Given the description of an element on the screen output the (x, y) to click on. 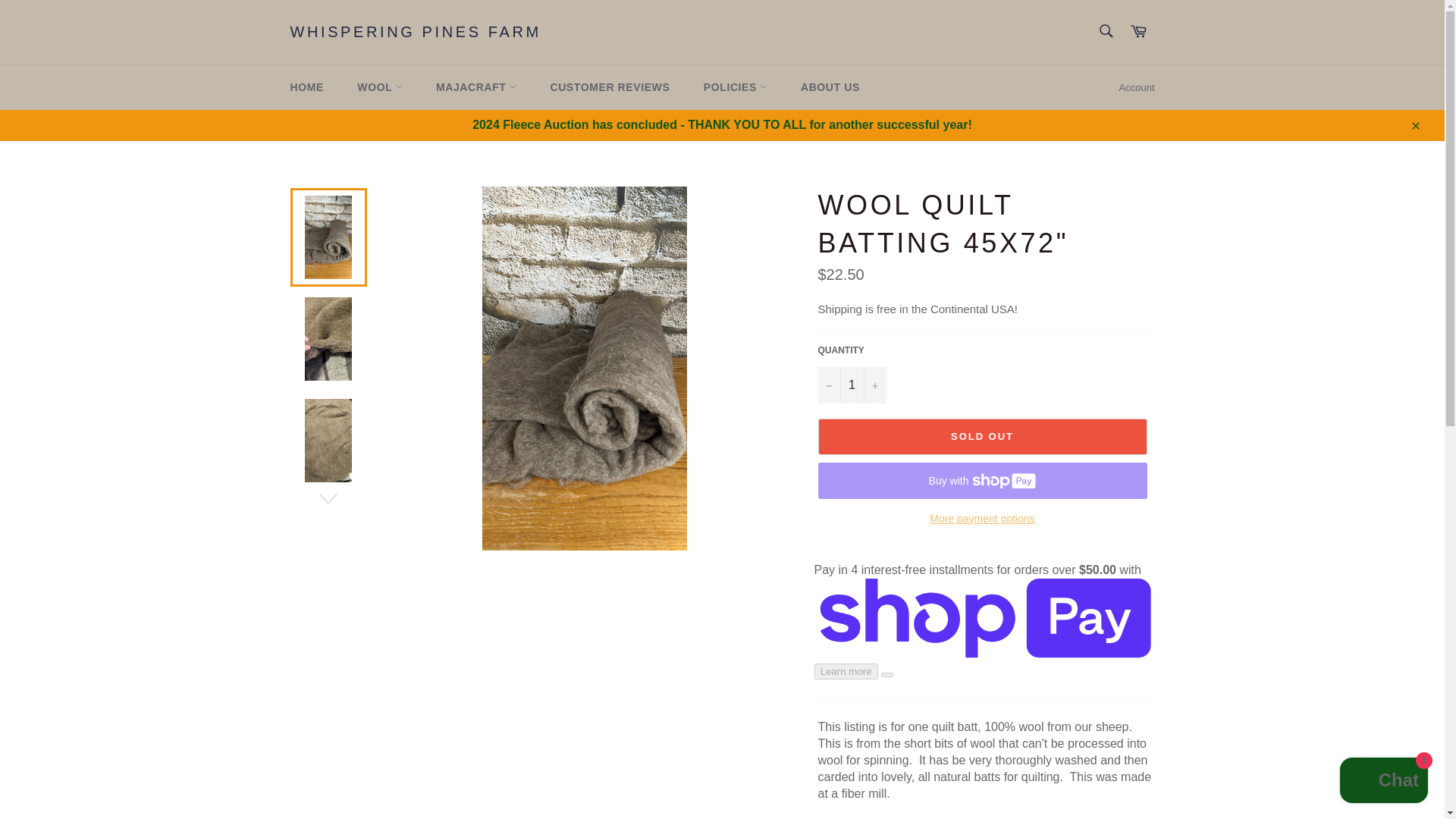
1 (850, 384)
MAJACRAFT (475, 87)
Shopify online store chat (1383, 781)
Cart (1138, 32)
WHISPERING PINES FARM (414, 32)
Search (1104, 30)
HOME (306, 87)
WOOL (379, 87)
